Given the description of an element on the screen output the (x, y) to click on. 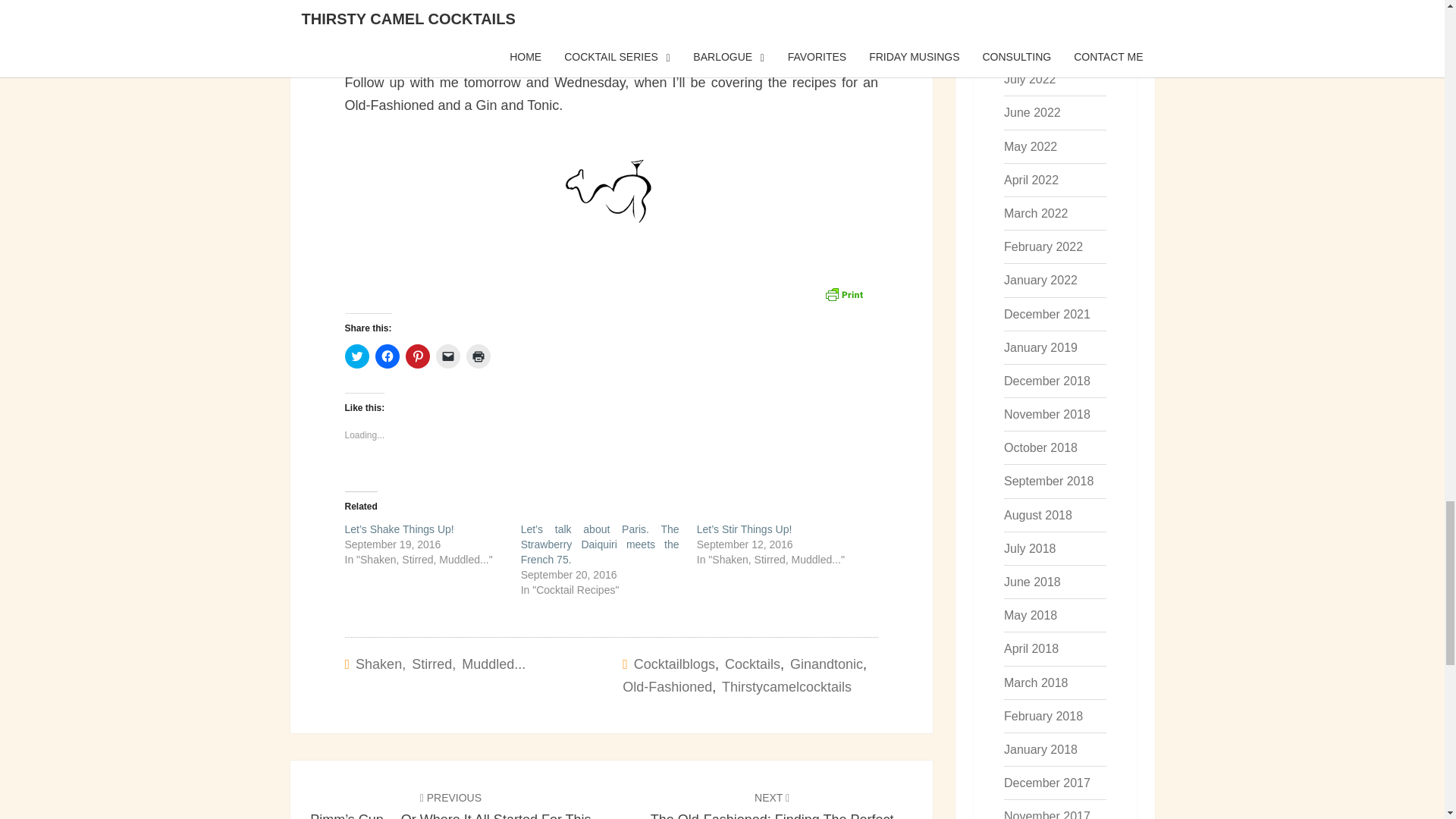
Thirstycamelcocktails (786, 686)
Click to share on Twitter (355, 355)
Cocktailblogs (673, 663)
Cocktails (752, 663)
Click to email a link to a friend (447, 355)
Click to share on Facebook (386, 355)
Shaken, Stirred, Muddled... (440, 663)
Click to share on Pinterest (416, 355)
Ginandtonic (826, 663)
Old-Fashioned (667, 686)
Click to print (477, 355)
